Given the description of an element on the screen output the (x, y) to click on. 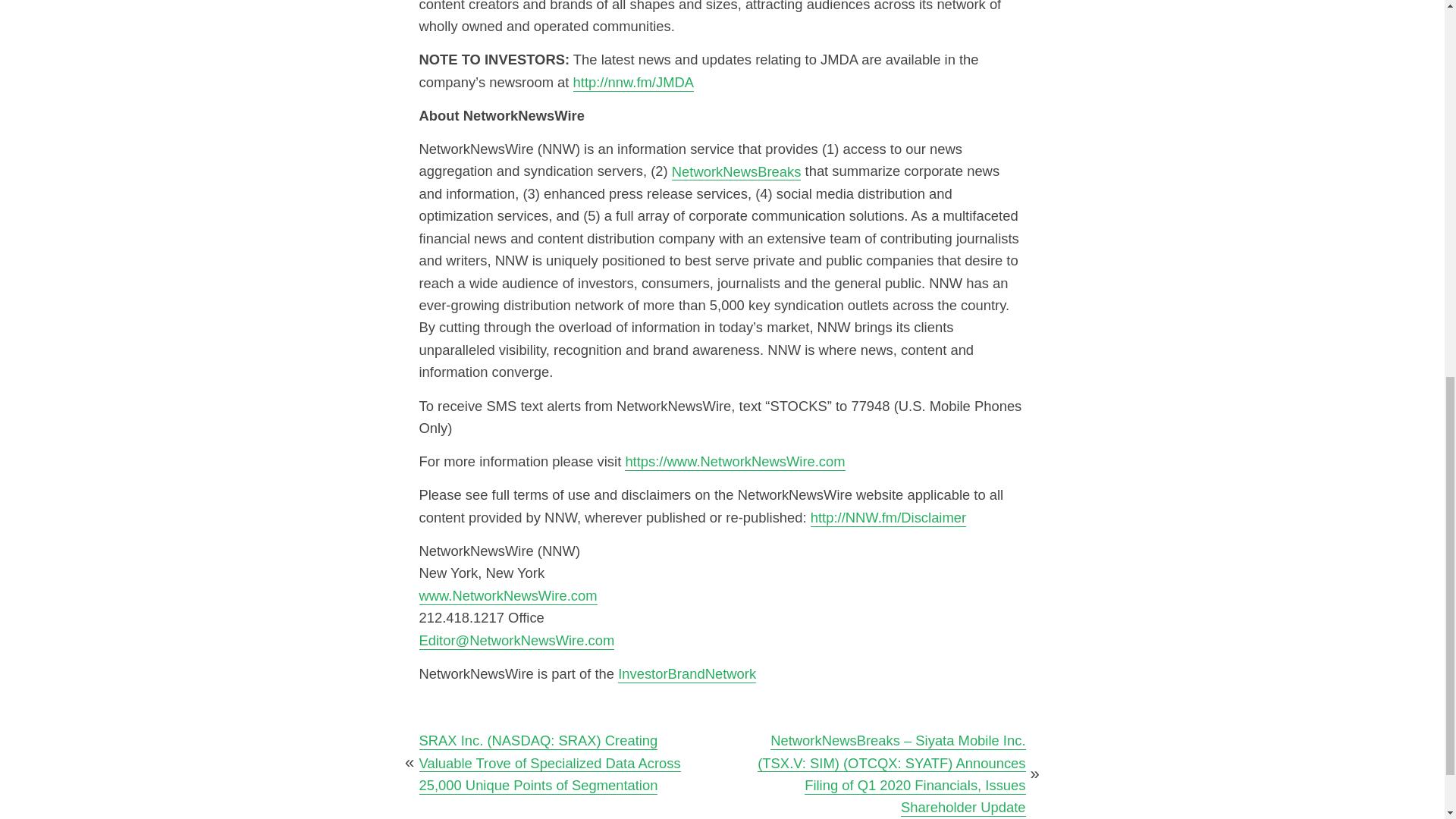
NetworkNewsBreaks (736, 171)
InvestorBrandNetwork (686, 673)
www.NetworkNewsWire.com (507, 595)
